Given the description of an element on the screen output the (x, y) to click on. 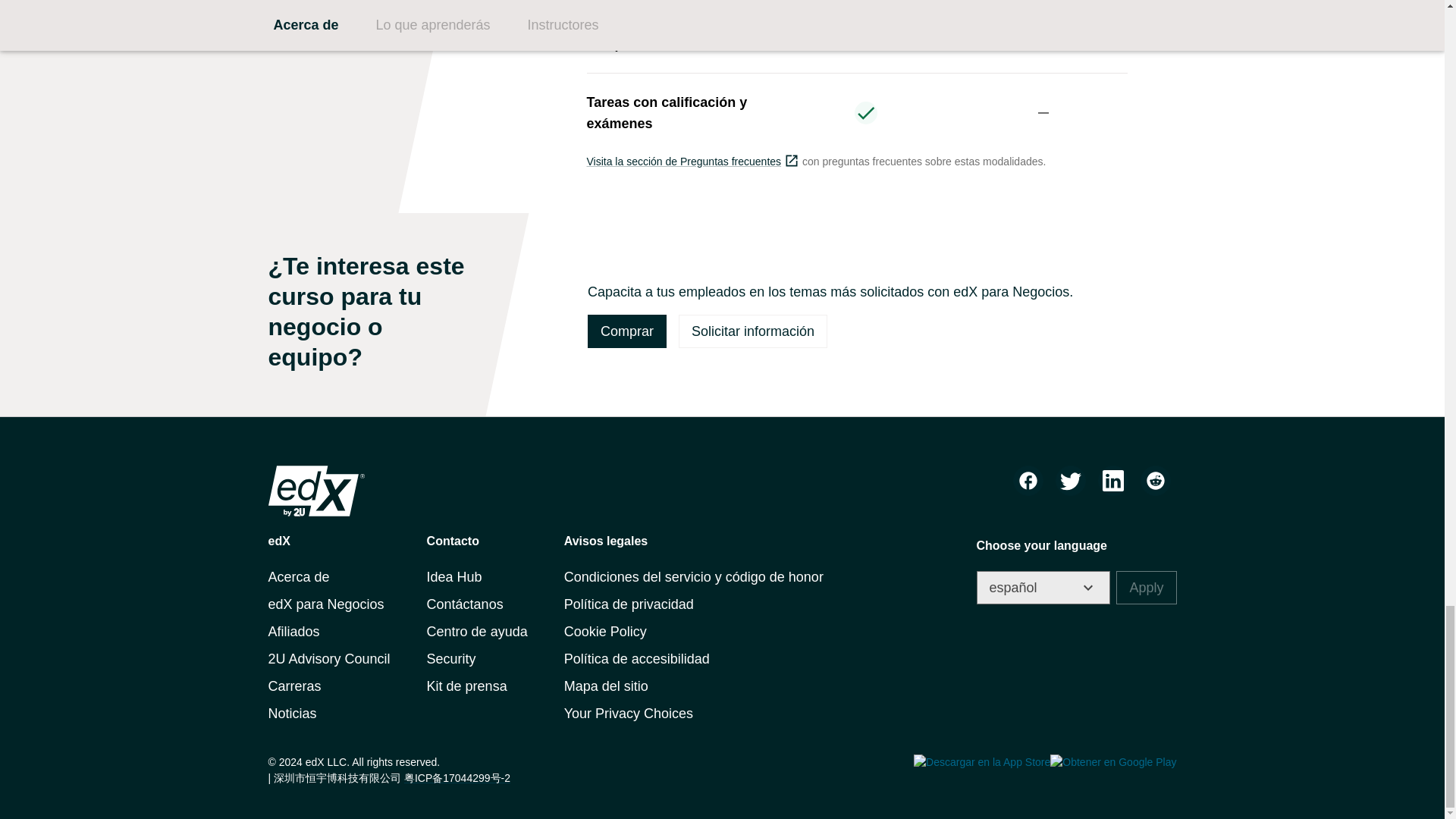
Facebook (1028, 481)
LinkedIn (1112, 481)
Twitter (1070, 481)
Reddit (1155, 481)
